Given the description of an element on the screen output the (x, y) to click on. 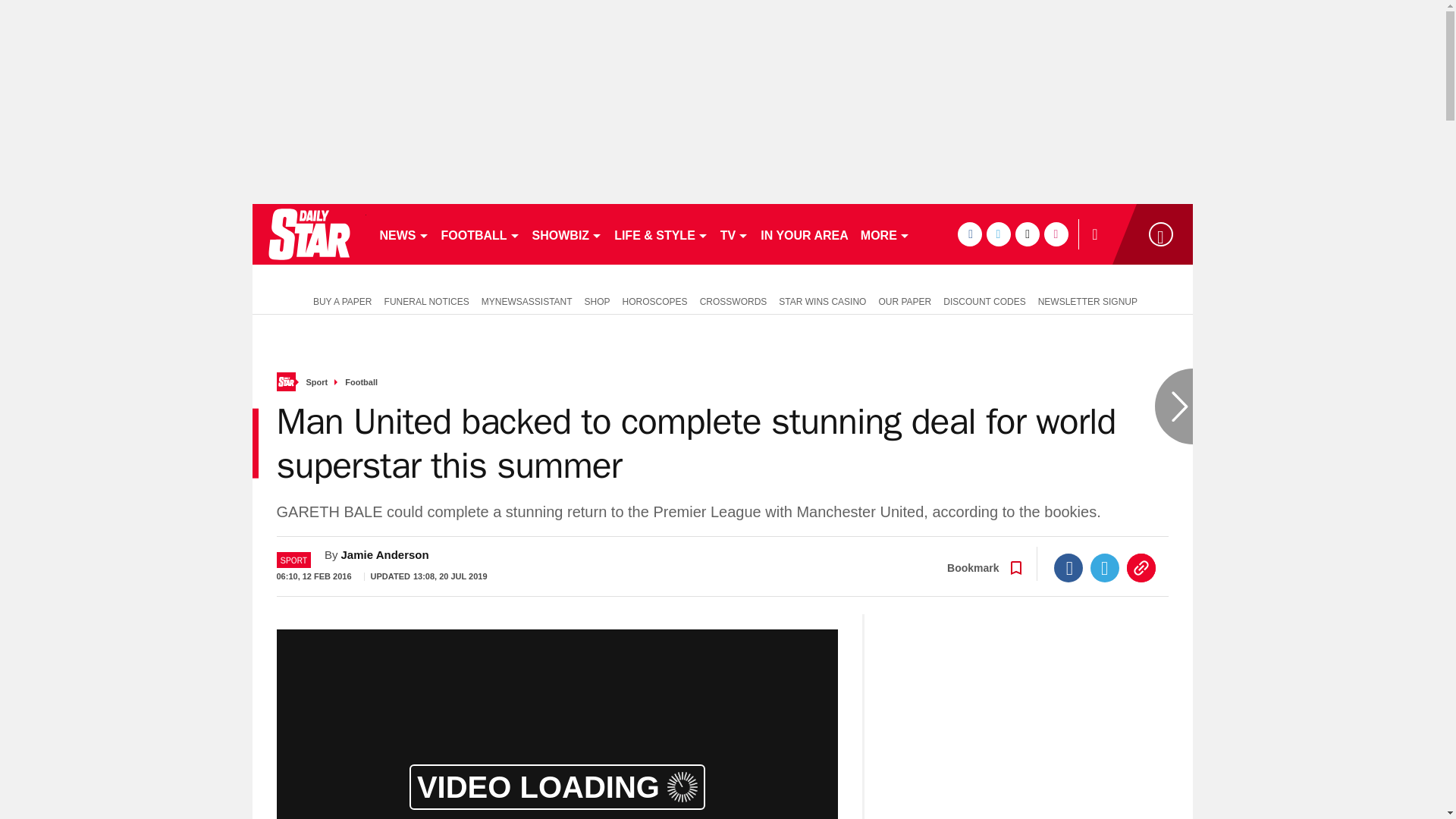
instagram (1055, 233)
dailystar (308, 233)
twitter (997, 233)
Facebook (1068, 567)
SHOWBIZ (566, 233)
tiktok (1026, 233)
facebook (968, 233)
FOOTBALL (480, 233)
Twitter (1104, 567)
NEWS (402, 233)
